Given the description of an element on the screen output the (x, y) to click on. 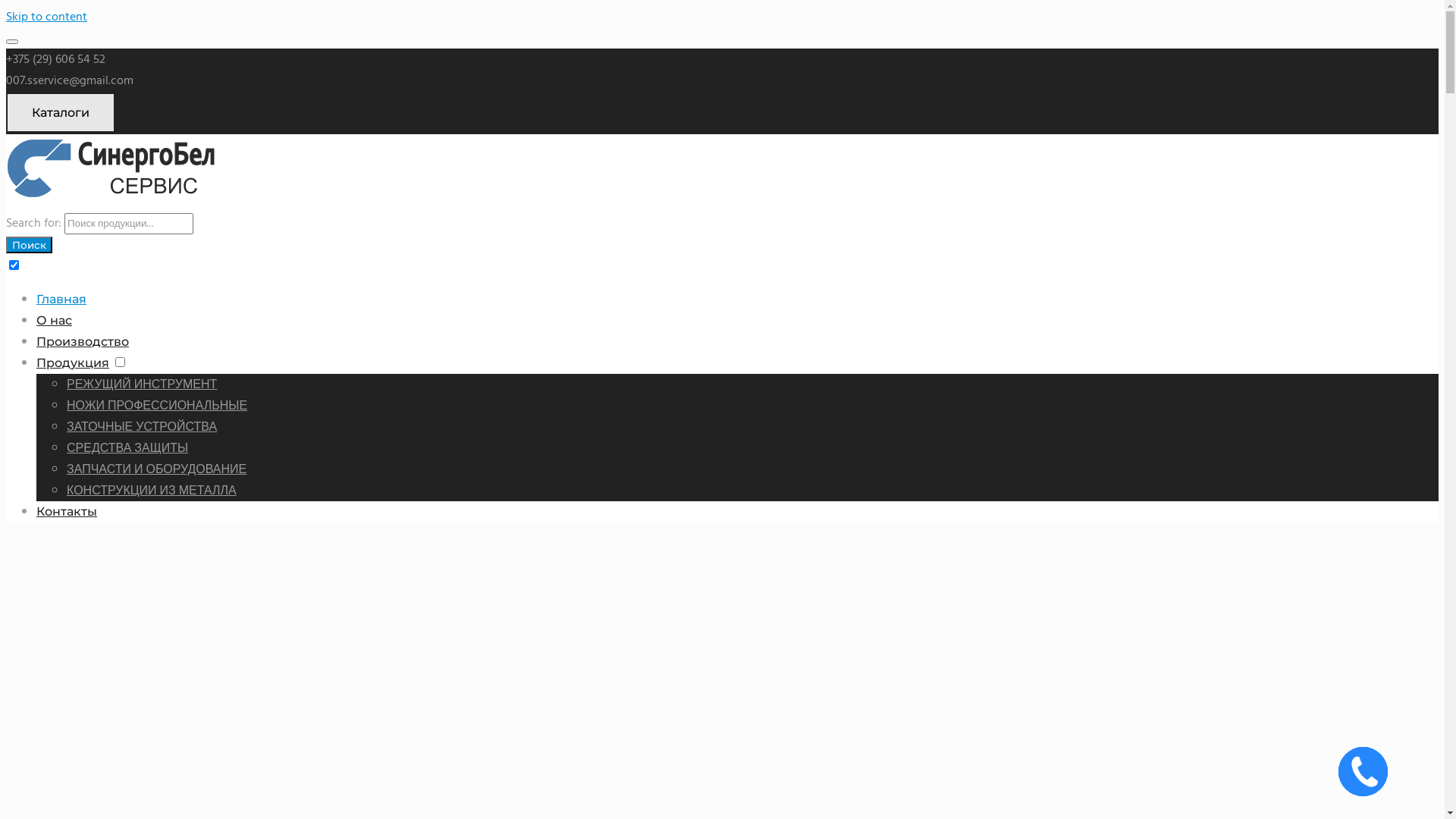
Search for: Element type: hover (128, 223)
Skip to content Element type: text (46, 16)
